Given the description of an element on the screen output the (x, y) to click on. 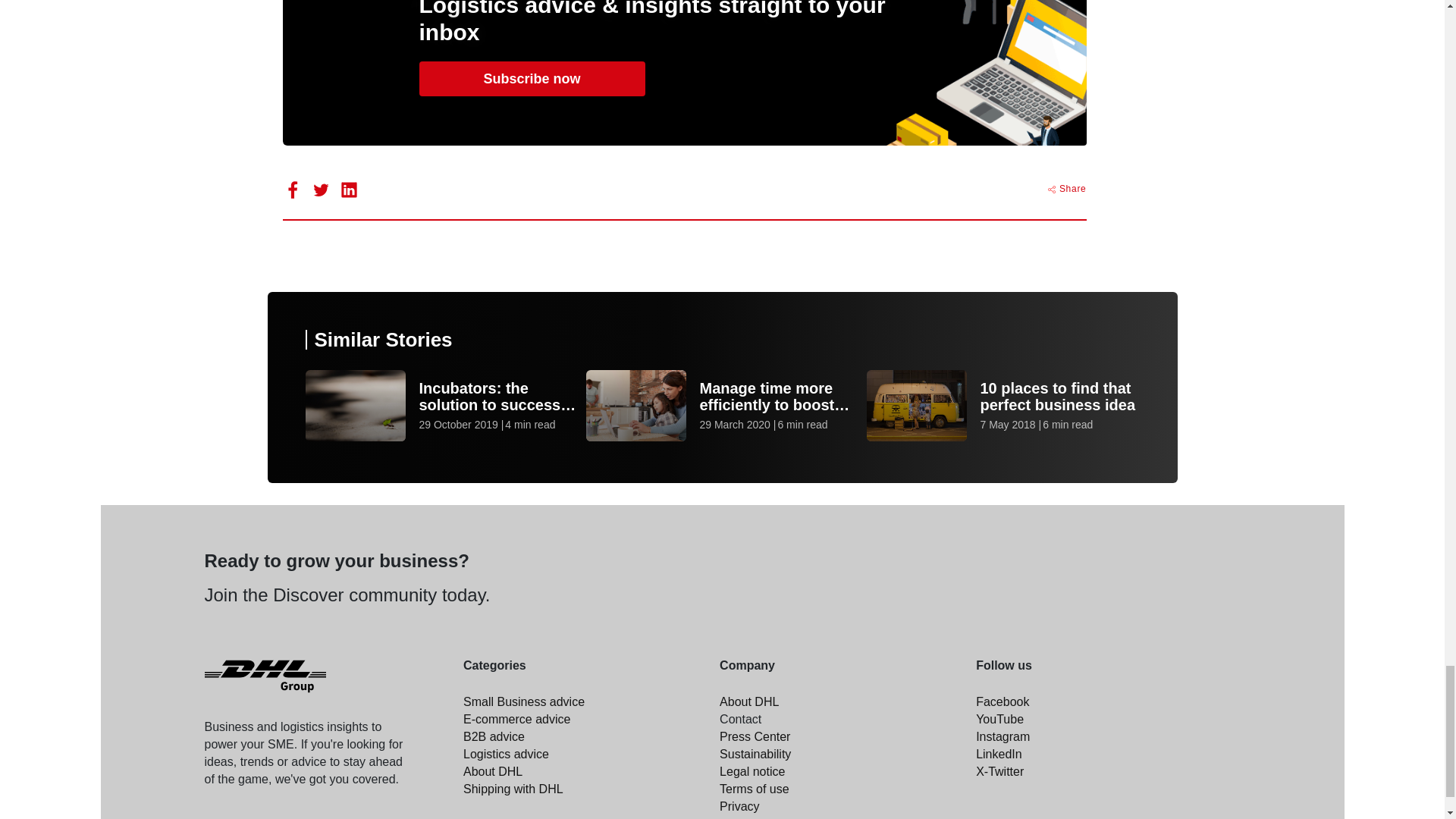
DHL group (265, 676)
